Given the description of an element on the screen output the (x, y) to click on. 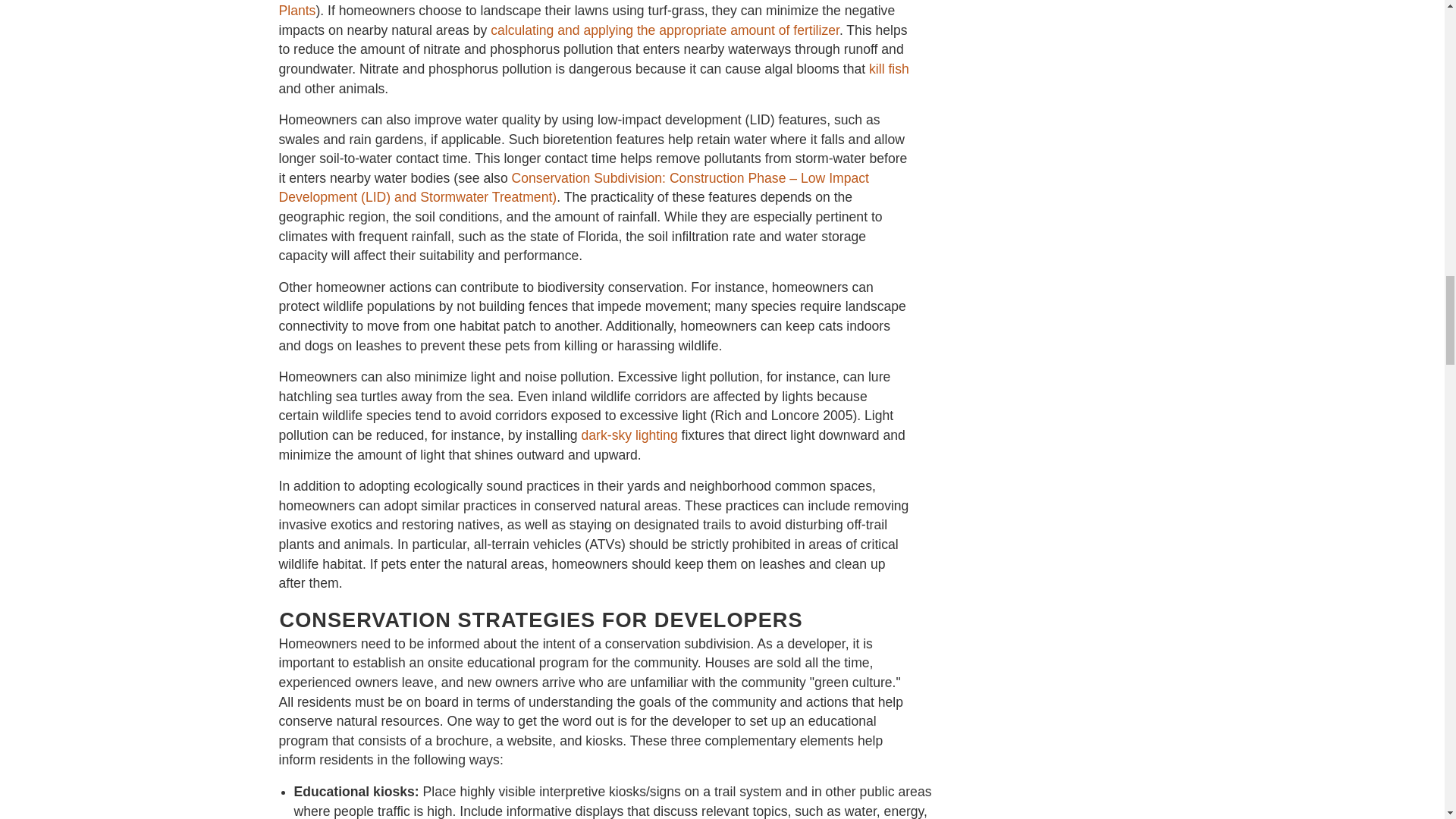
kill fish (888, 68)
dark-sky lighting (629, 435)
